Given the description of an element on the screen output the (x, y) to click on. 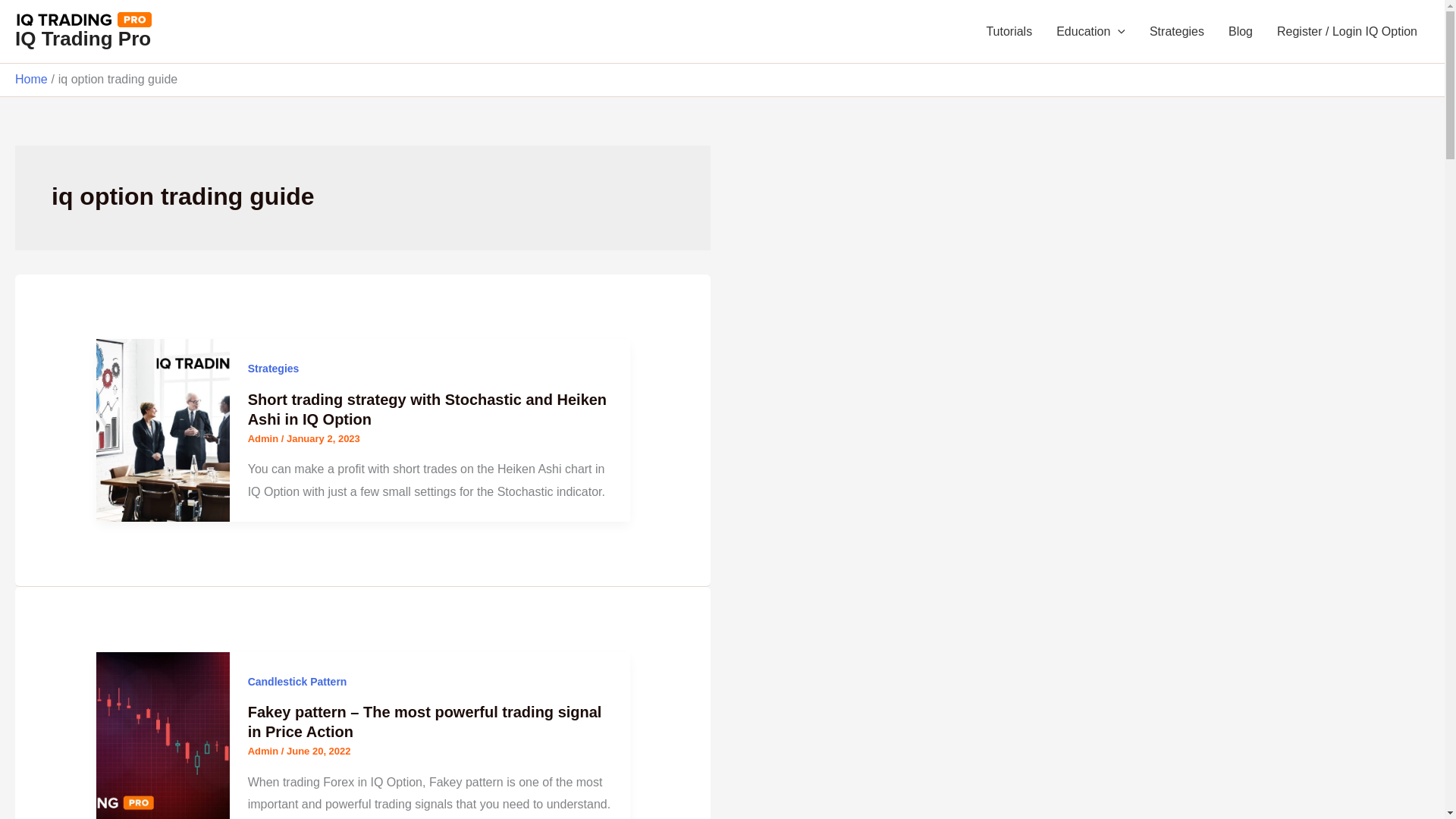
Strategies (1176, 31)
Home (31, 78)
Education (1090, 31)
View all posts by Admin (264, 438)
Tutorials (1008, 31)
IQ Trading Pro (82, 38)
Admin (264, 438)
View all posts by Admin (264, 750)
Candlestick Pattern (297, 681)
